Given the description of an element on the screen output the (x, y) to click on. 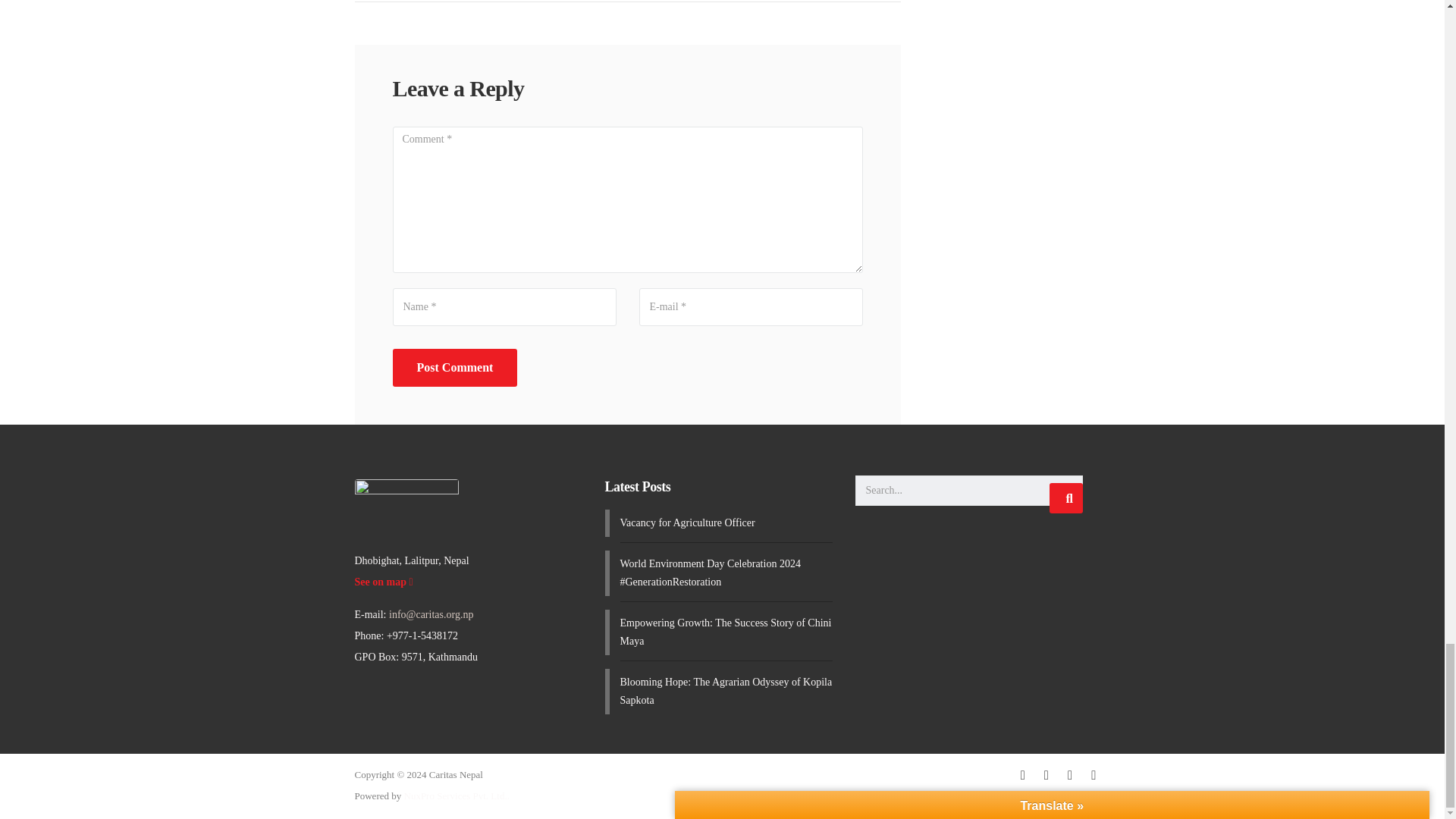
Savior on map (384, 582)
Post Comment (455, 367)
